Given the description of an element on the screen output the (x, y) to click on. 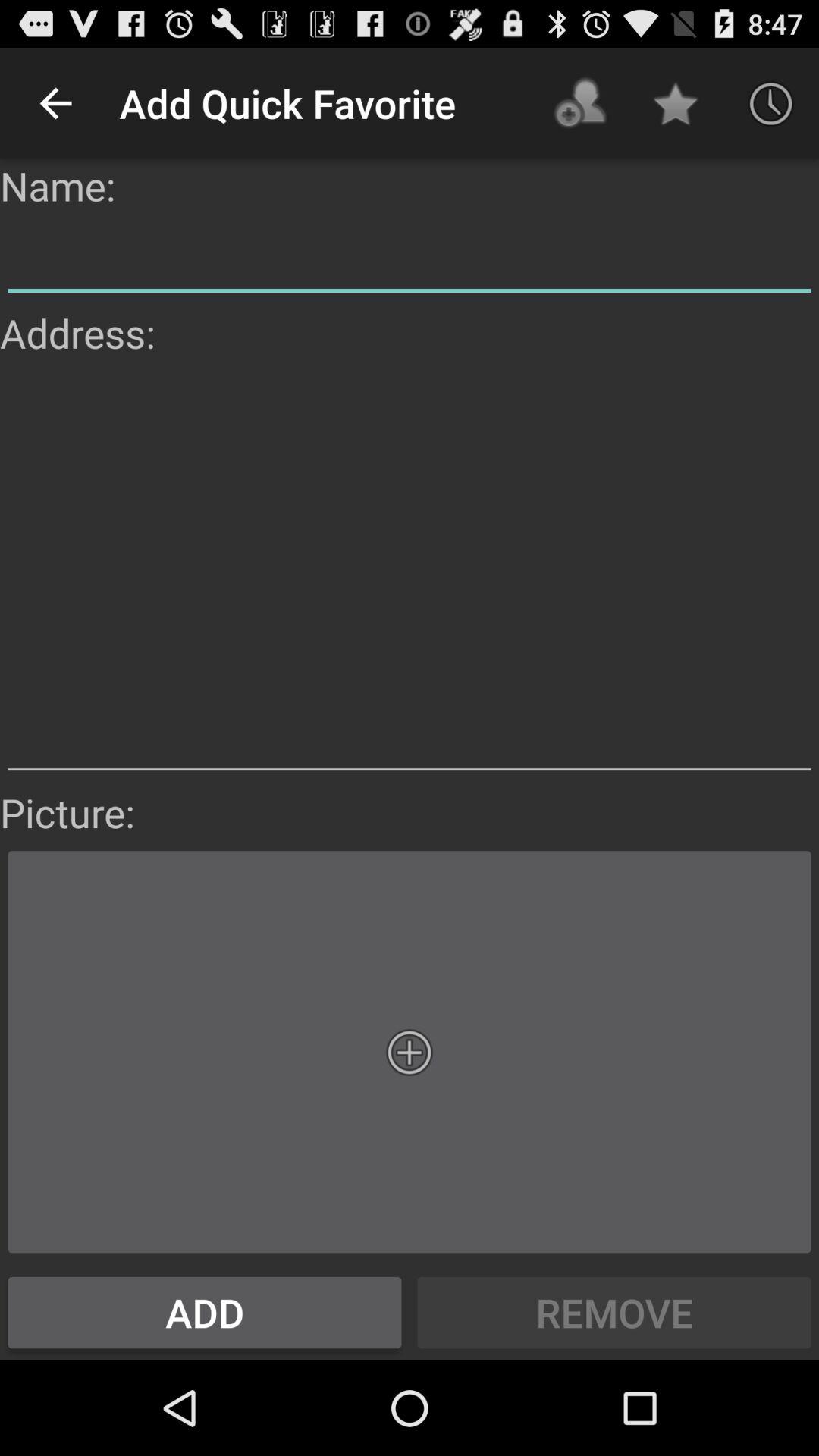
enter address (409, 572)
